Given the description of an element on the screen output the (x, y) to click on. 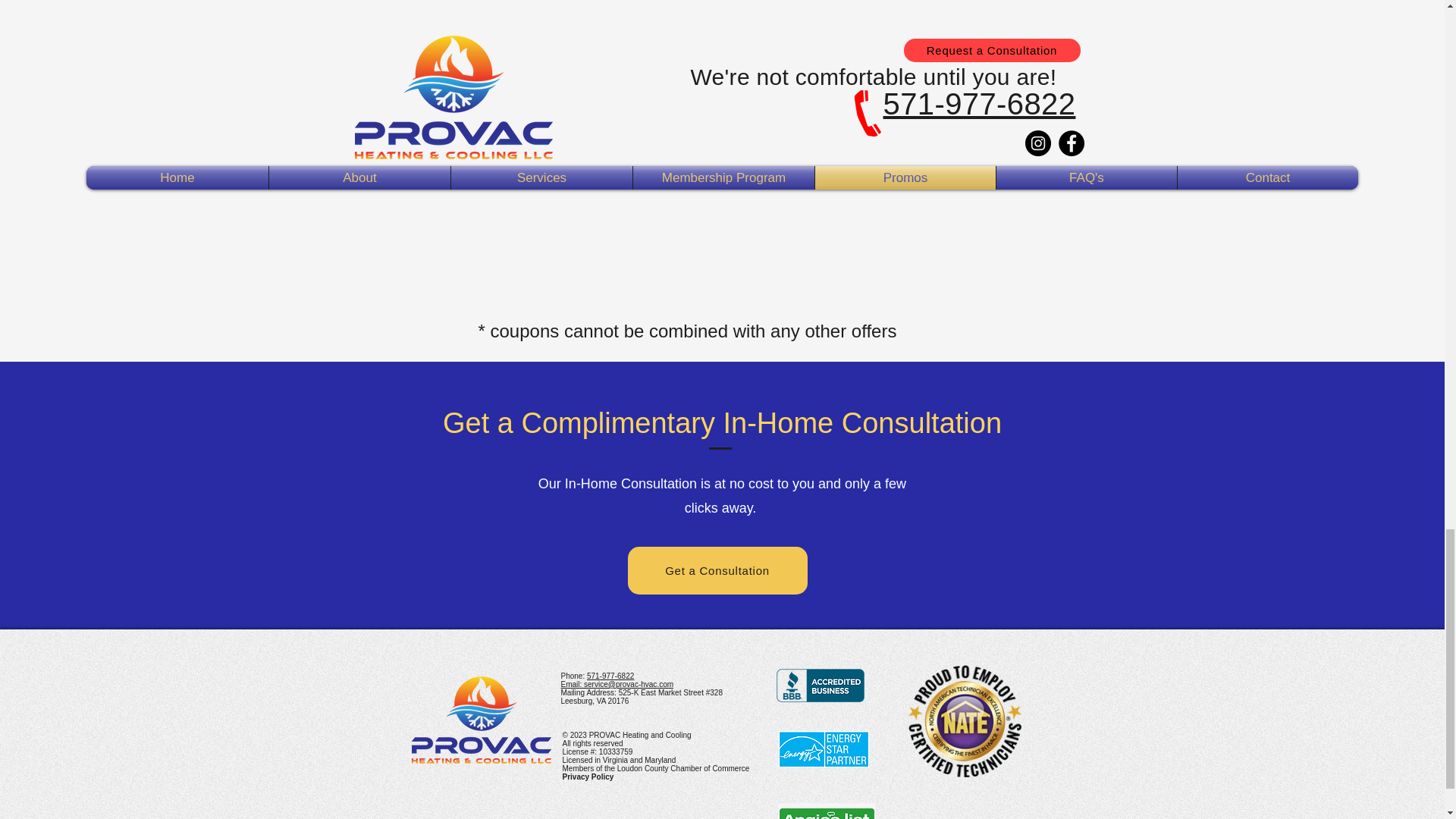
20245.png (820, 685)
571-977-6822 (609, 675)
Get a Consultation (717, 570)
